Given the description of an element on the screen output the (x, y) to click on. 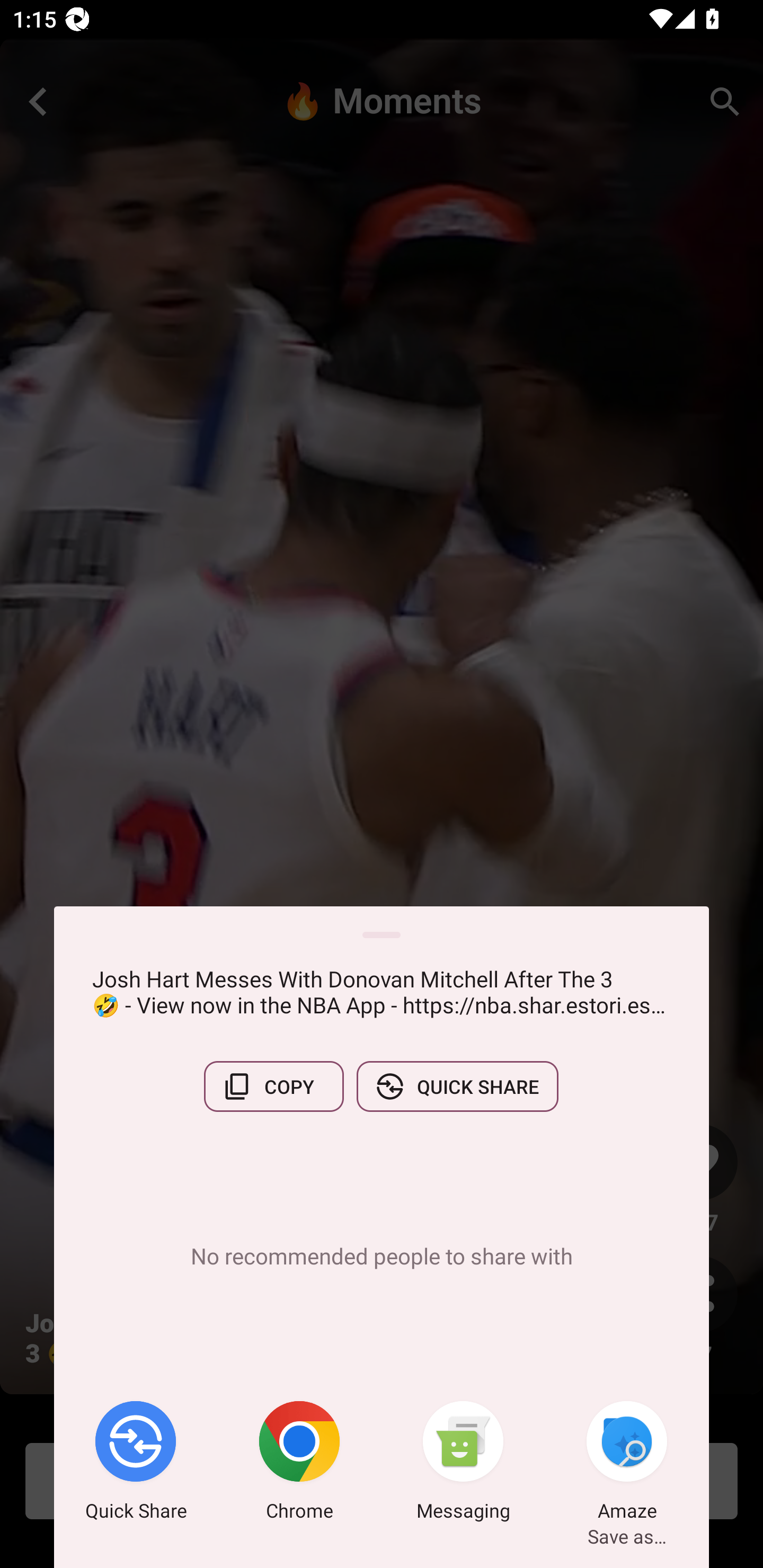
COPY (273, 1086)
QUICK SHARE (457, 1086)
Quick Share (135, 1463)
Chrome (299, 1463)
Messaging (463, 1463)
Amaze Save as… (626, 1463)
